Given the description of an element on the screen output the (x, y) to click on. 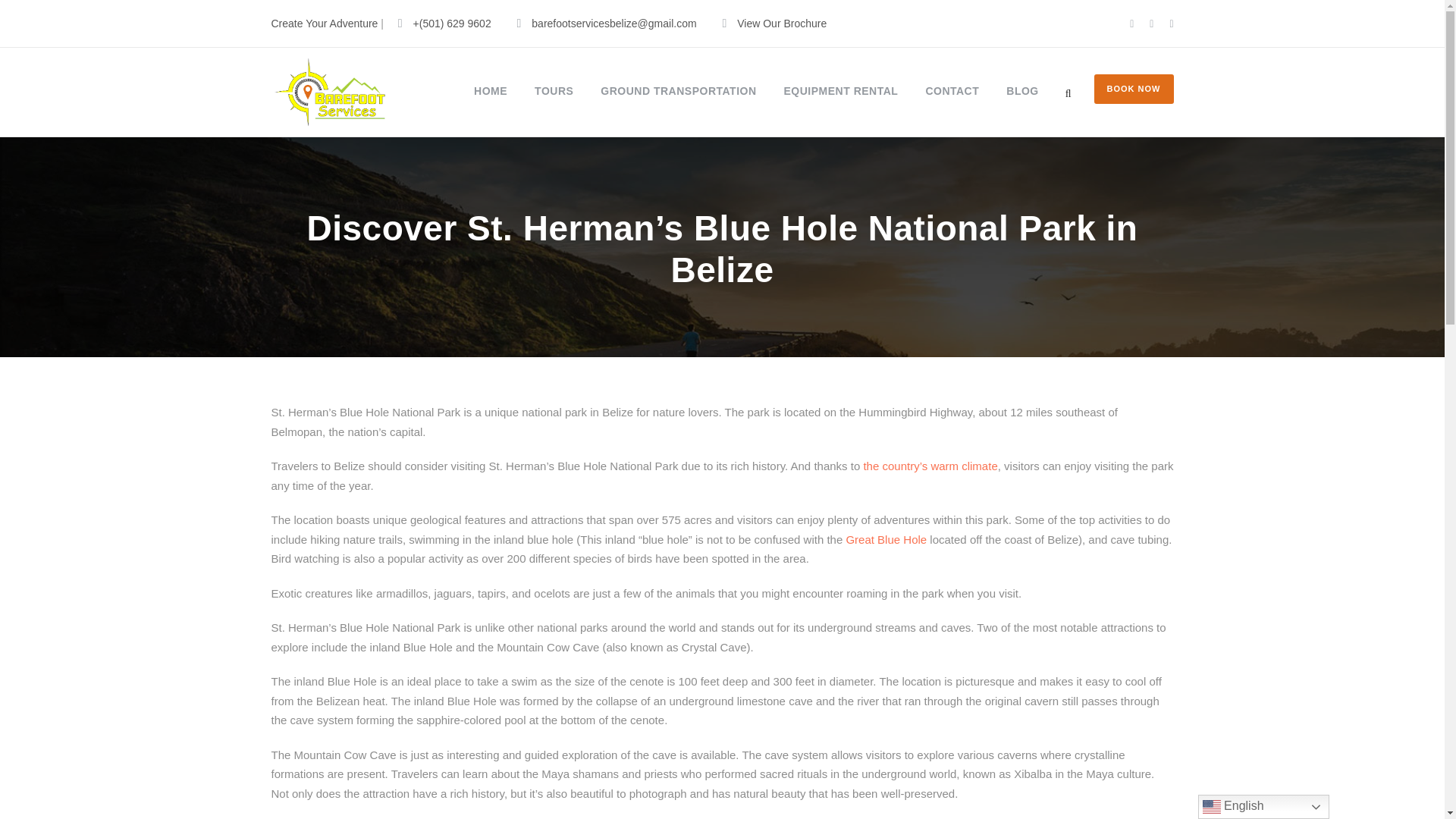
BLOG (1022, 91)
View Our Brochure (781, 23)
Create Your Adventure (324, 23)
BOOK NOW (1133, 89)
HOME (490, 91)
GROUND TRANSPORTATION (677, 91)
CONTACT (951, 91)
TOURS (553, 91)
EQUIPMENT RENTAL (841, 91)
